Given the description of an element on the screen output the (x, y) to click on. 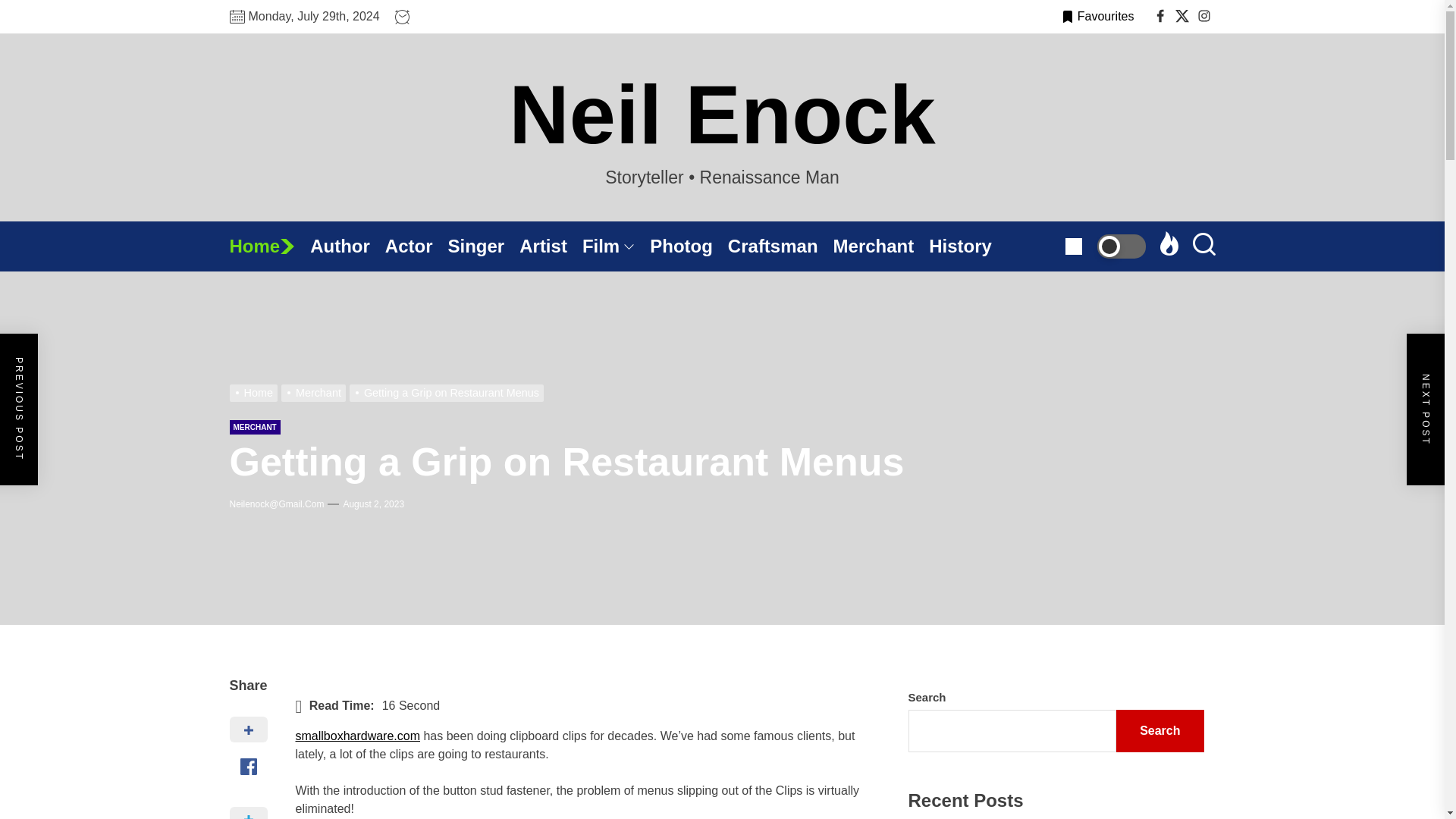
Artist (550, 246)
Favourites (1097, 16)
TW (1182, 16)
Author (347, 246)
Singer (483, 246)
FB (1160, 16)
Craftsman (780, 246)
Photog (688, 246)
IG (1203, 16)
Home (269, 246)
Neil Enock (721, 114)
Home (269, 246)
Merchant (881, 246)
Actor (416, 246)
Film (615, 246)
